Given the description of an element on the screen output the (x, y) to click on. 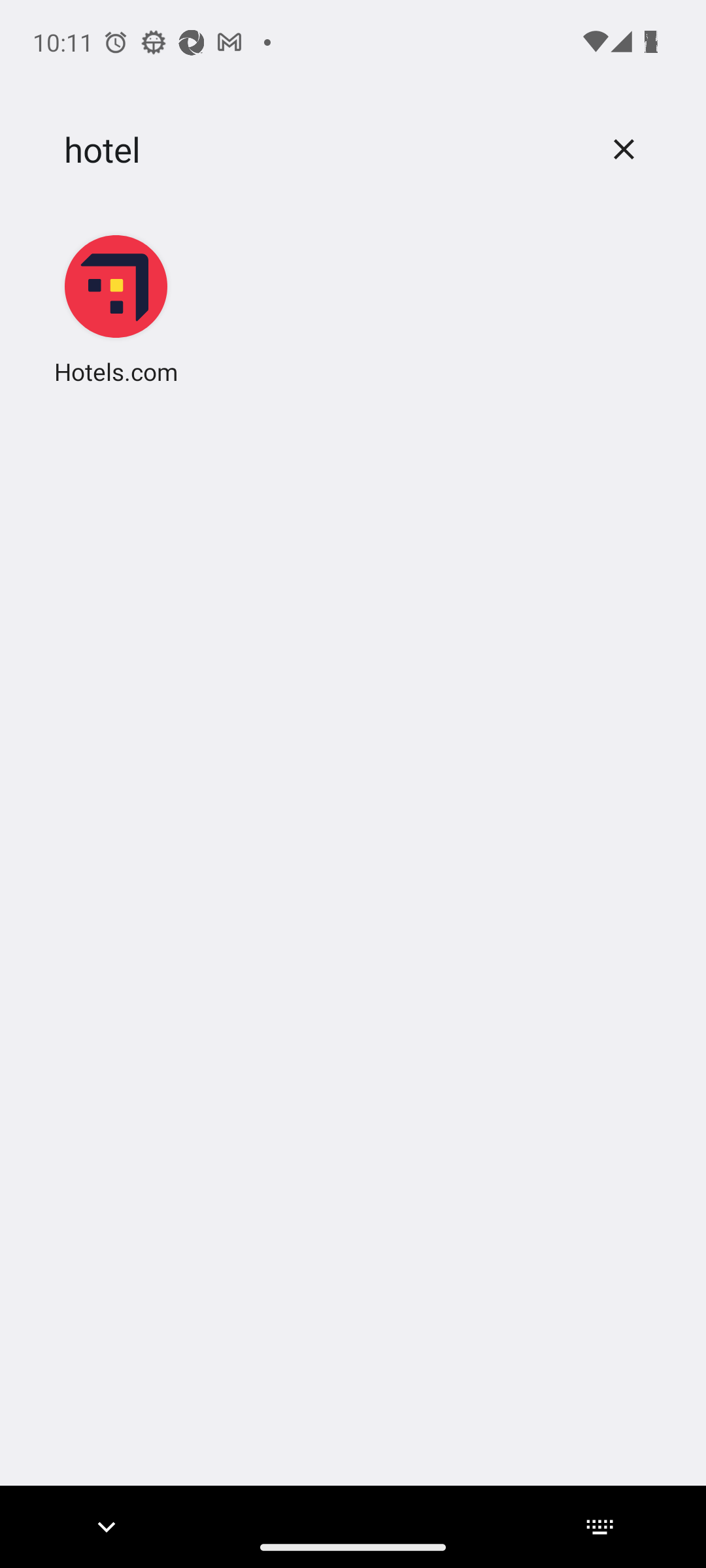
hotel (321, 149)
Clear search box (623, 149)
Hotels.com (115, 308)
